Given the description of an element on the screen output the (x, y) to click on. 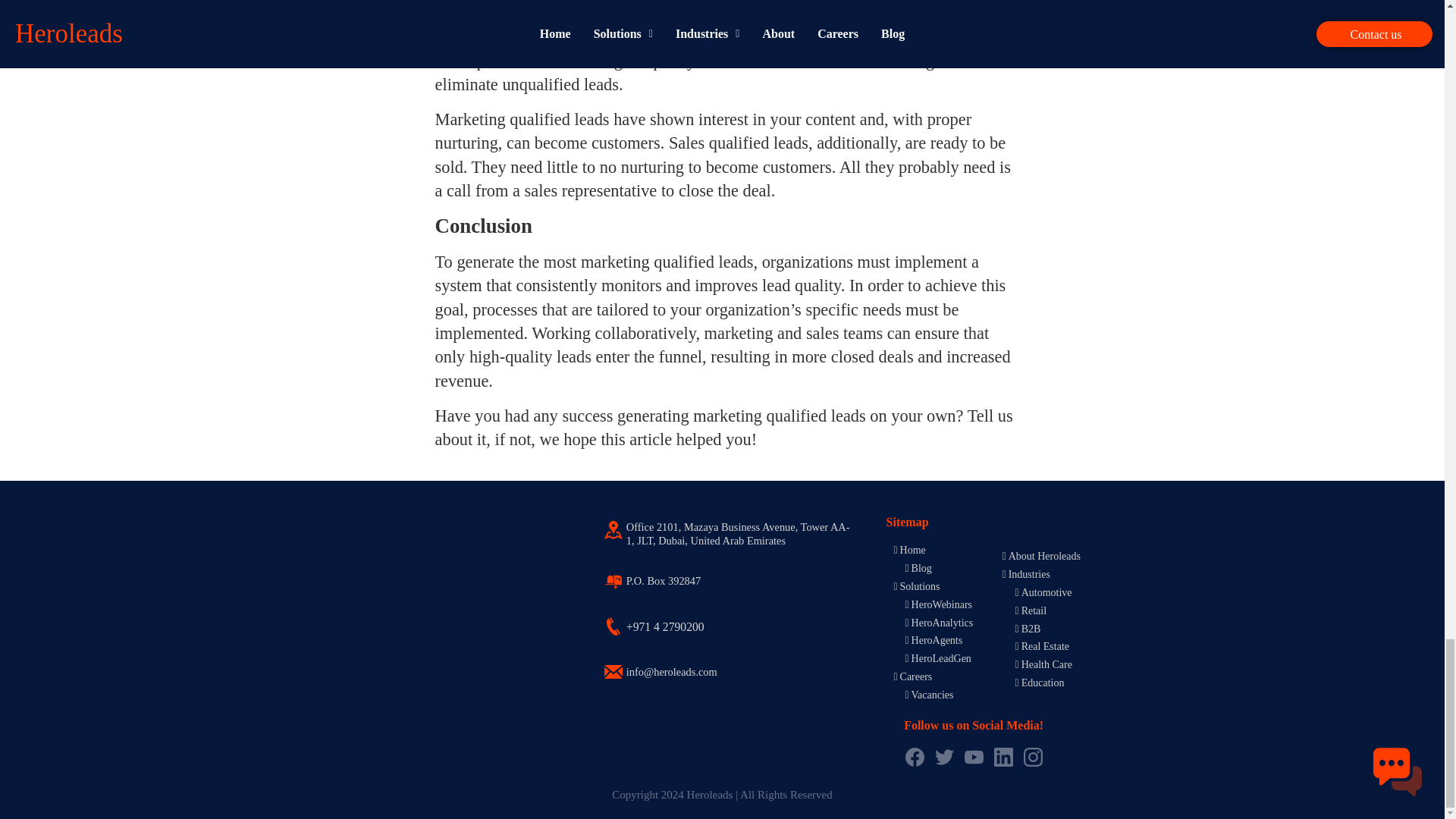
Layer 1 (613, 671)
Facebook icon (914, 756)
Twitter icon (943, 756)
Instagram icon (1032, 756)
YouTube icon (973, 756)
LinkedIn icon (1003, 756)
Layer 1 (613, 529)
Layer 1 (613, 626)
